Given the description of an element on the screen output the (x, y) to click on. 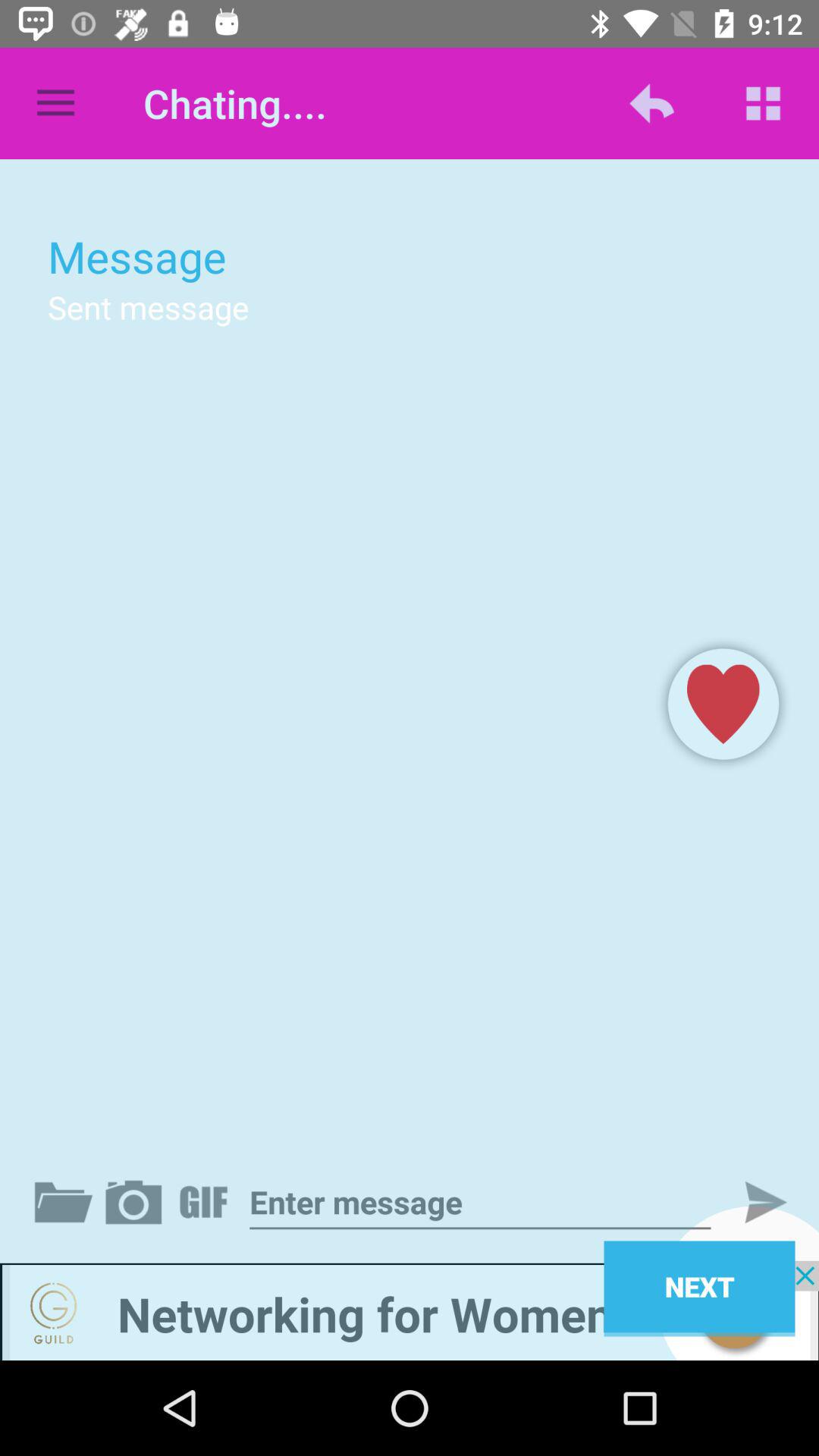
send message (752, 1202)
